Given the description of an element on the screen output the (x, y) to click on. 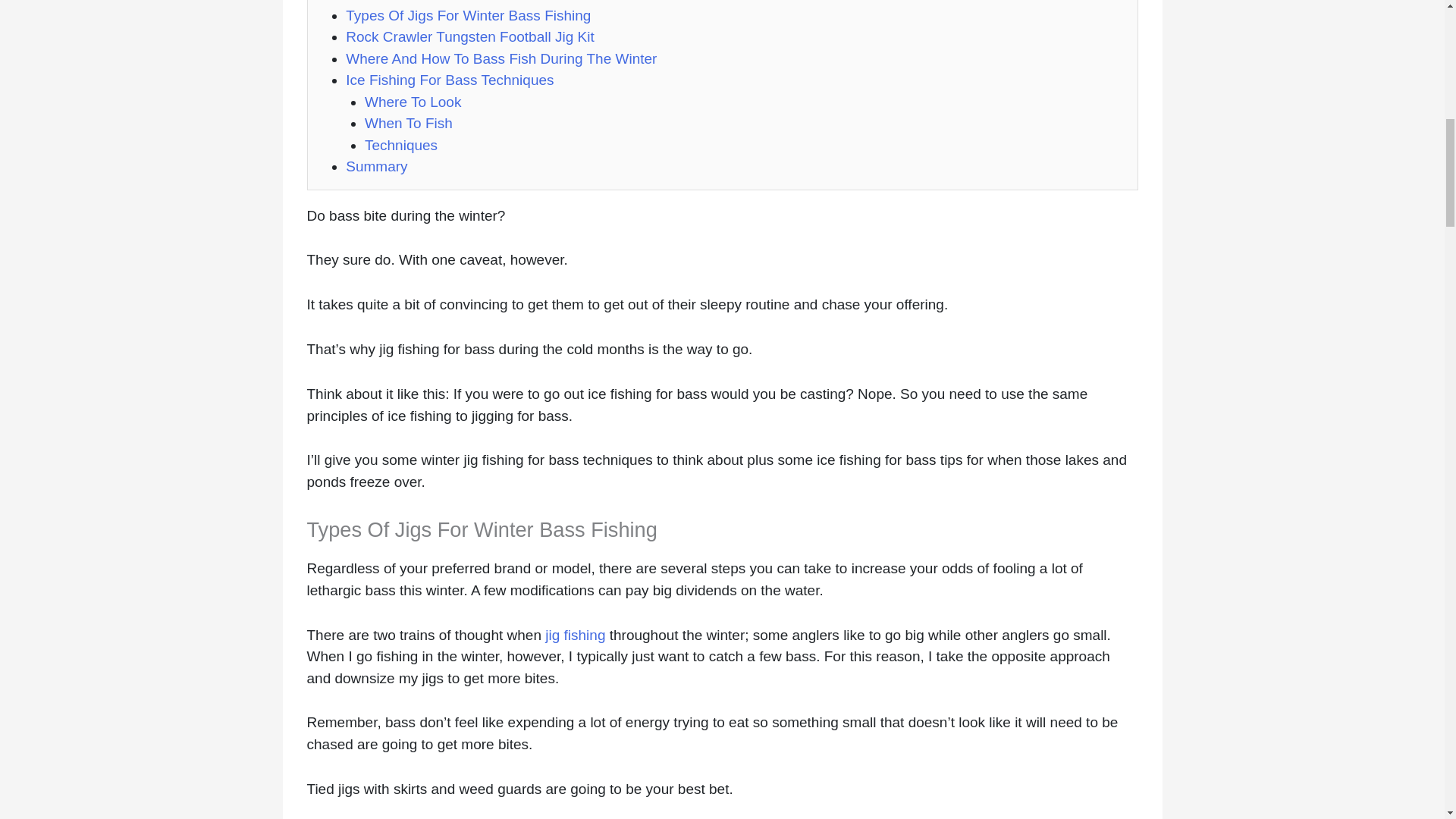
Techniques (401, 144)
Types Of Jigs For Winter Bass Fishing (468, 15)
Where And How To Bass Fish During The Winter (501, 57)
When To Fish (408, 123)
Where To Look (413, 101)
Ice Fishing For Bass Techniques (449, 79)
Rock Crawler Tungsten Football Jig Kit (470, 36)
jig fishing (574, 634)
Summary (376, 166)
